Given the description of an element on the screen output the (x, y) to click on. 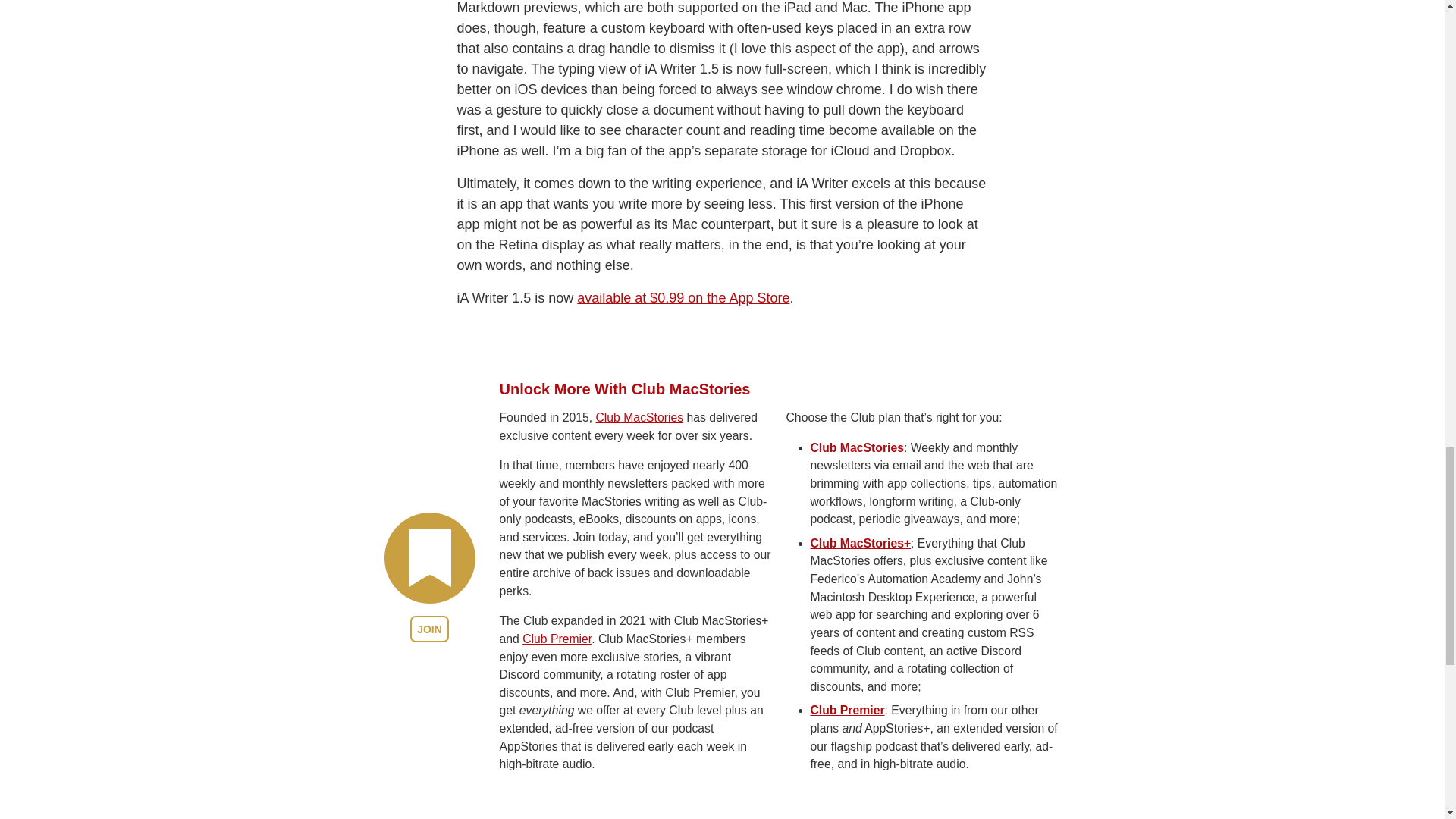
Club MacStories (638, 417)
Club Premier (556, 638)
Club MacStories (855, 447)
JOIN (429, 628)
